Given the description of an element on the screen output the (x, y) to click on. 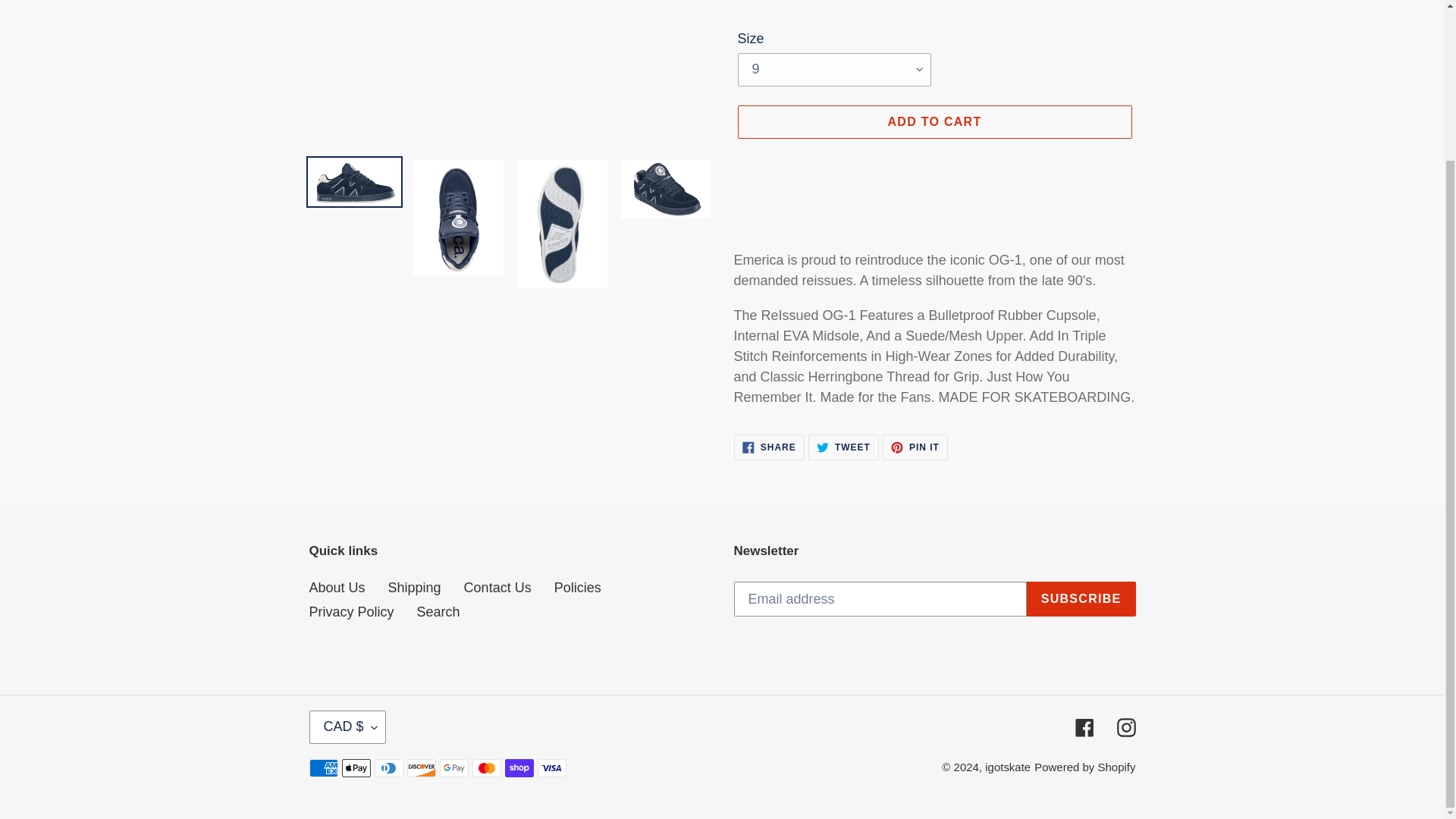
ADD TO CART (769, 447)
